Given the description of an element on the screen output the (x, y) to click on. 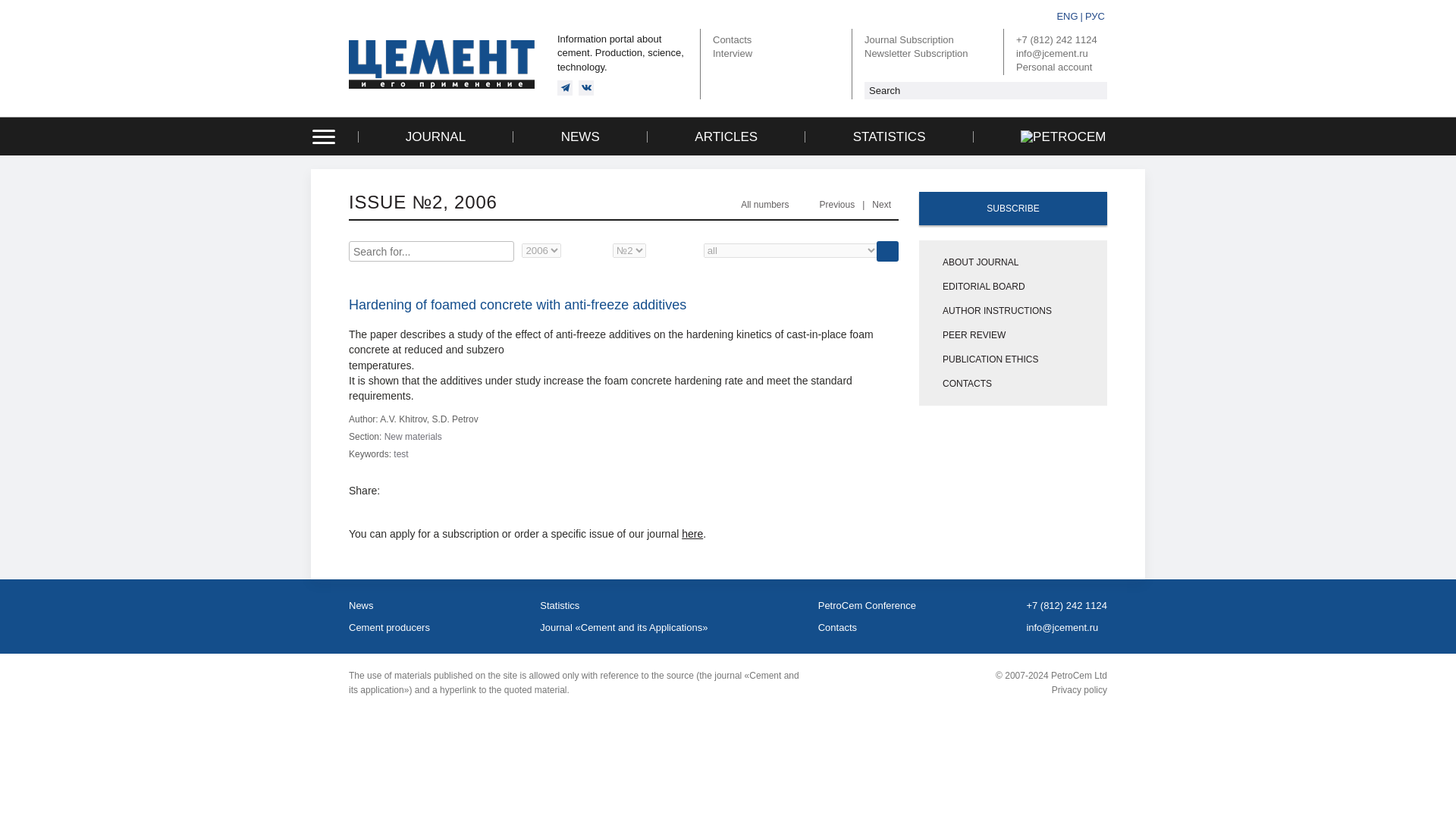
ENG (1067, 16)
Search (887, 250)
STATISTICS (889, 136)
test (400, 453)
Journal Subscription (908, 39)
Previous (835, 204)
JOURNAL (435, 136)
NEWS (580, 136)
Next (881, 204)
Newsletter Subscription (916, 52)
